Given the description of an element on the screen output the (x, y) to click on. 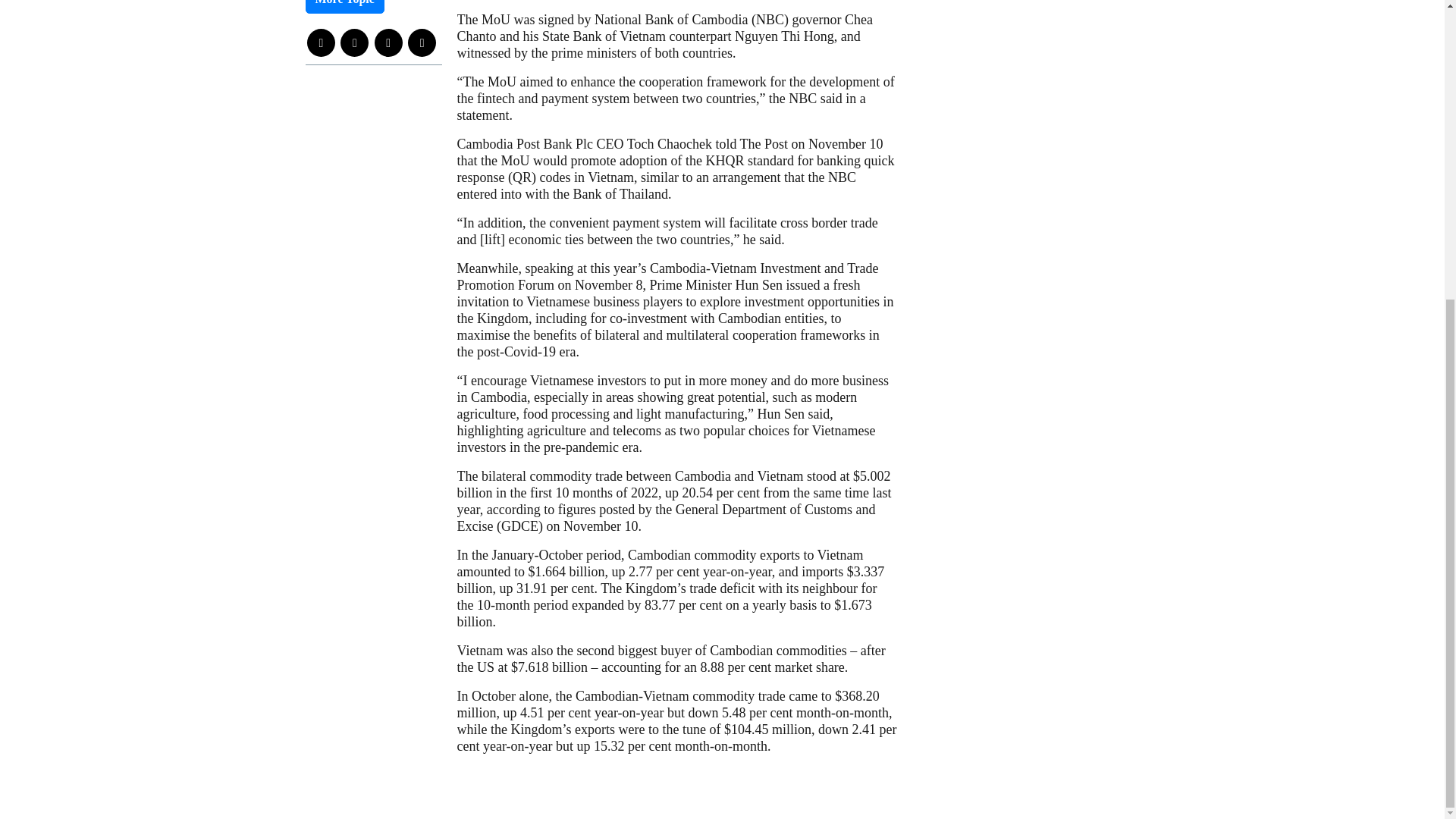
More Topic (344, 6)
